Given the description of an element on the screen output the (x, y) to click on. 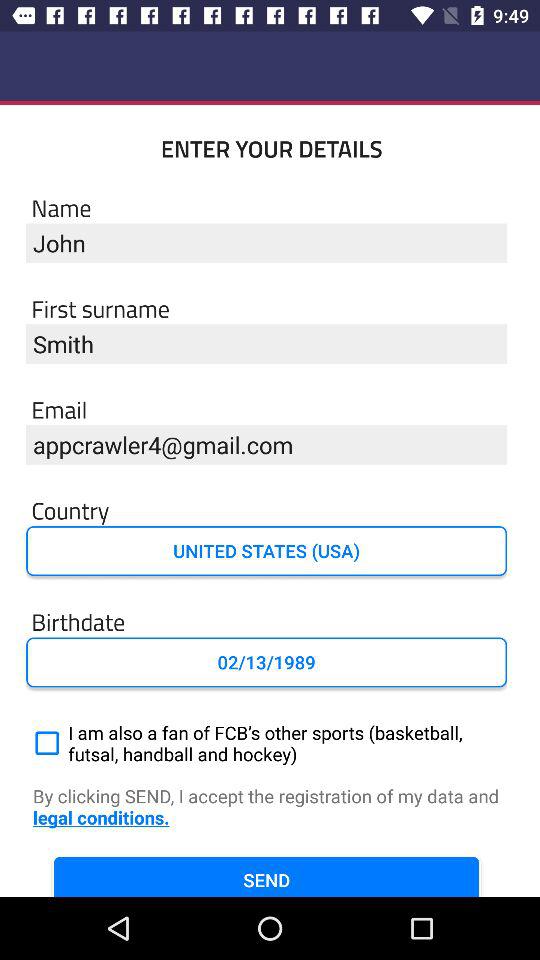
turn off 02/13/1989 item (266, 662)
